Given the description of an element on the screen output the (x, y) to click on. 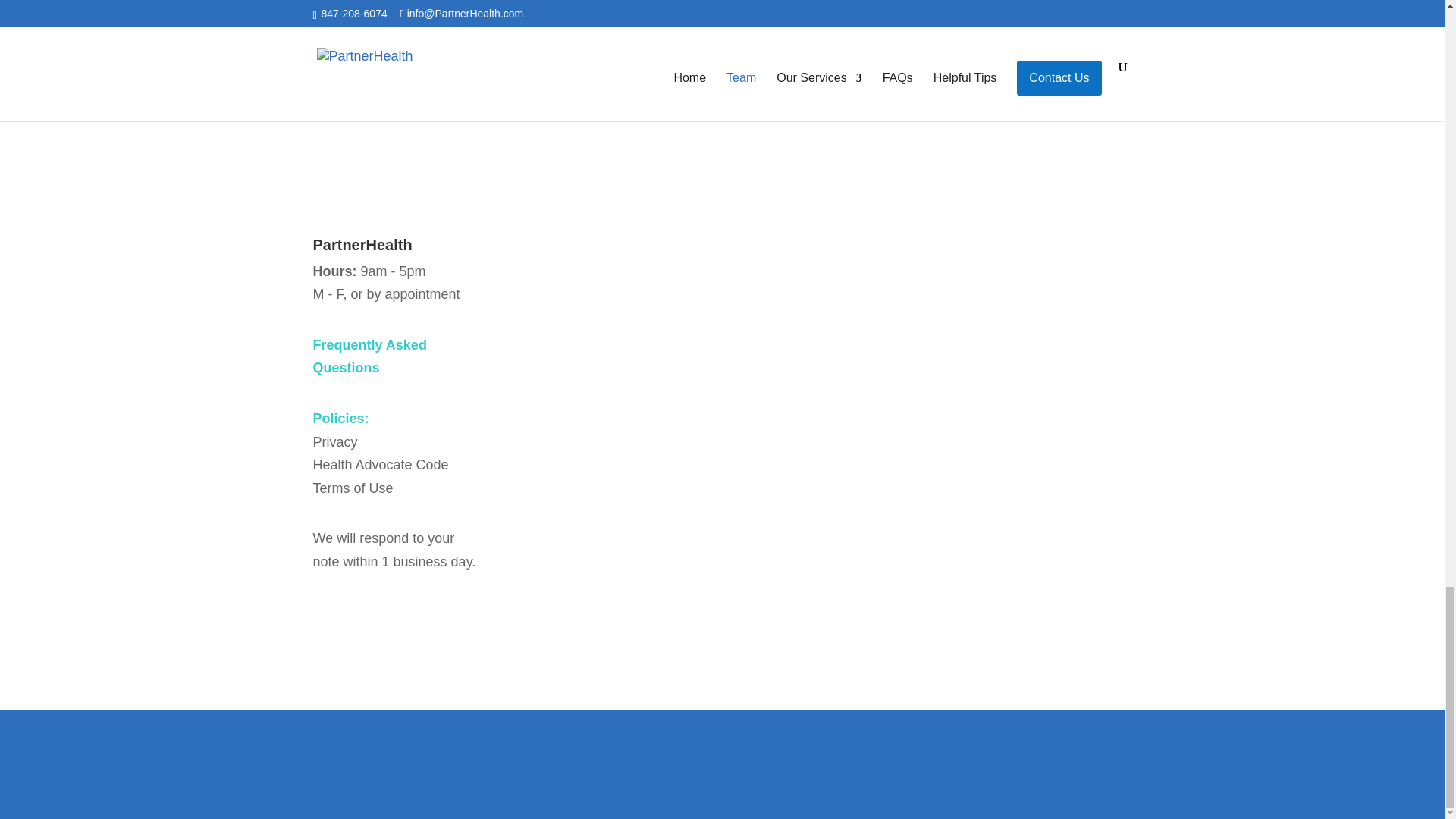
Unknown (973, 63)
Policies: (340, 418)
Frequently Asked Questions (369, 356)
Screen Shot 2021-03-23 at 2.18.57 PM (375, 50)
Screen Shot 2021-03-23 at 2.19.22 PM (721, 17)
